Given the description of an element on the screen output the (x, y) to click on. 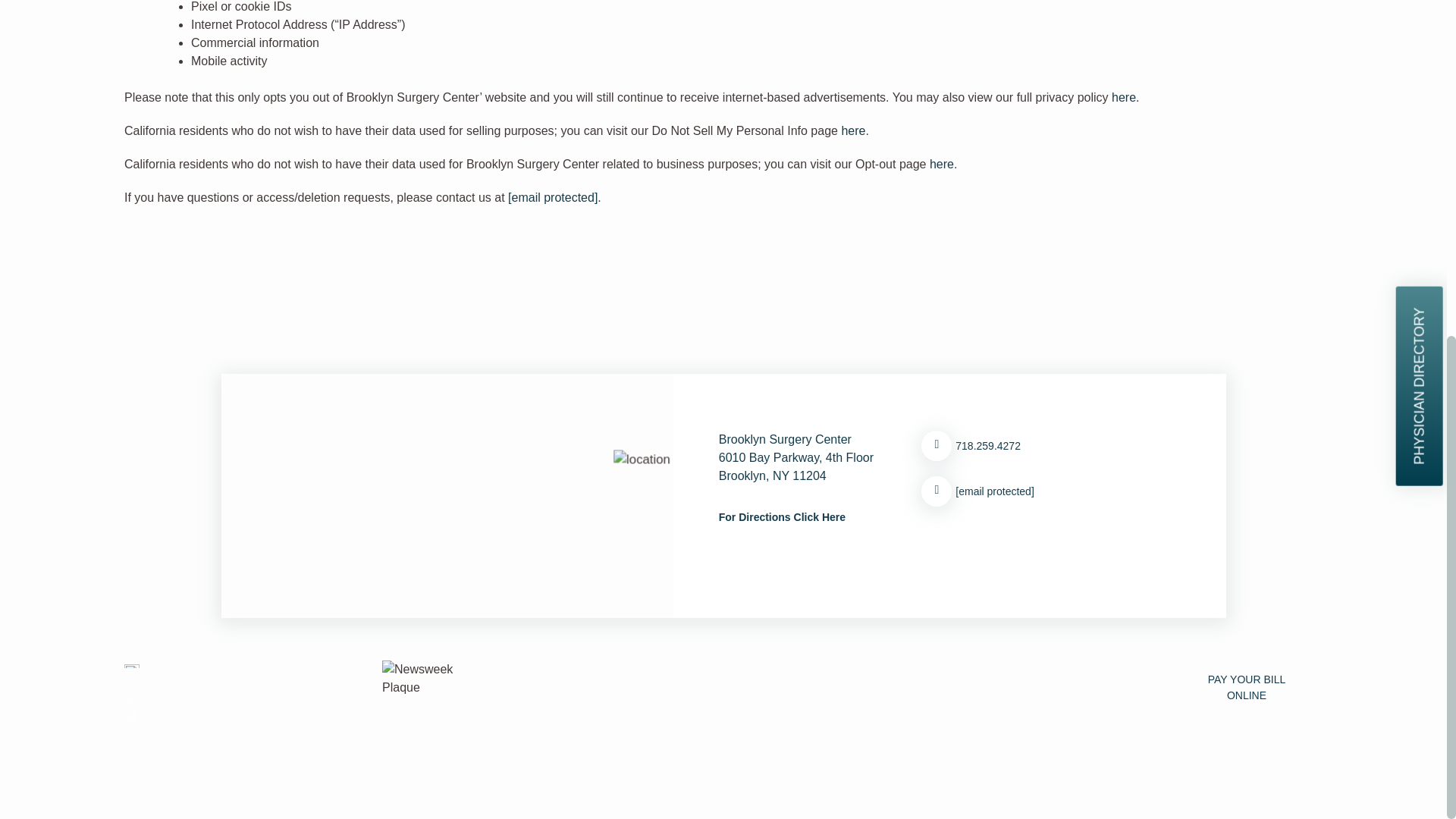
here (941, 164)
here (852, 130)
718.259.4272 (248, 699)
For Directions Click Here (782, 517)
718.259.4272 (1050, 445)
here (1123, 97)
